Given the description of an element on the screen output the (x, y) to click on. 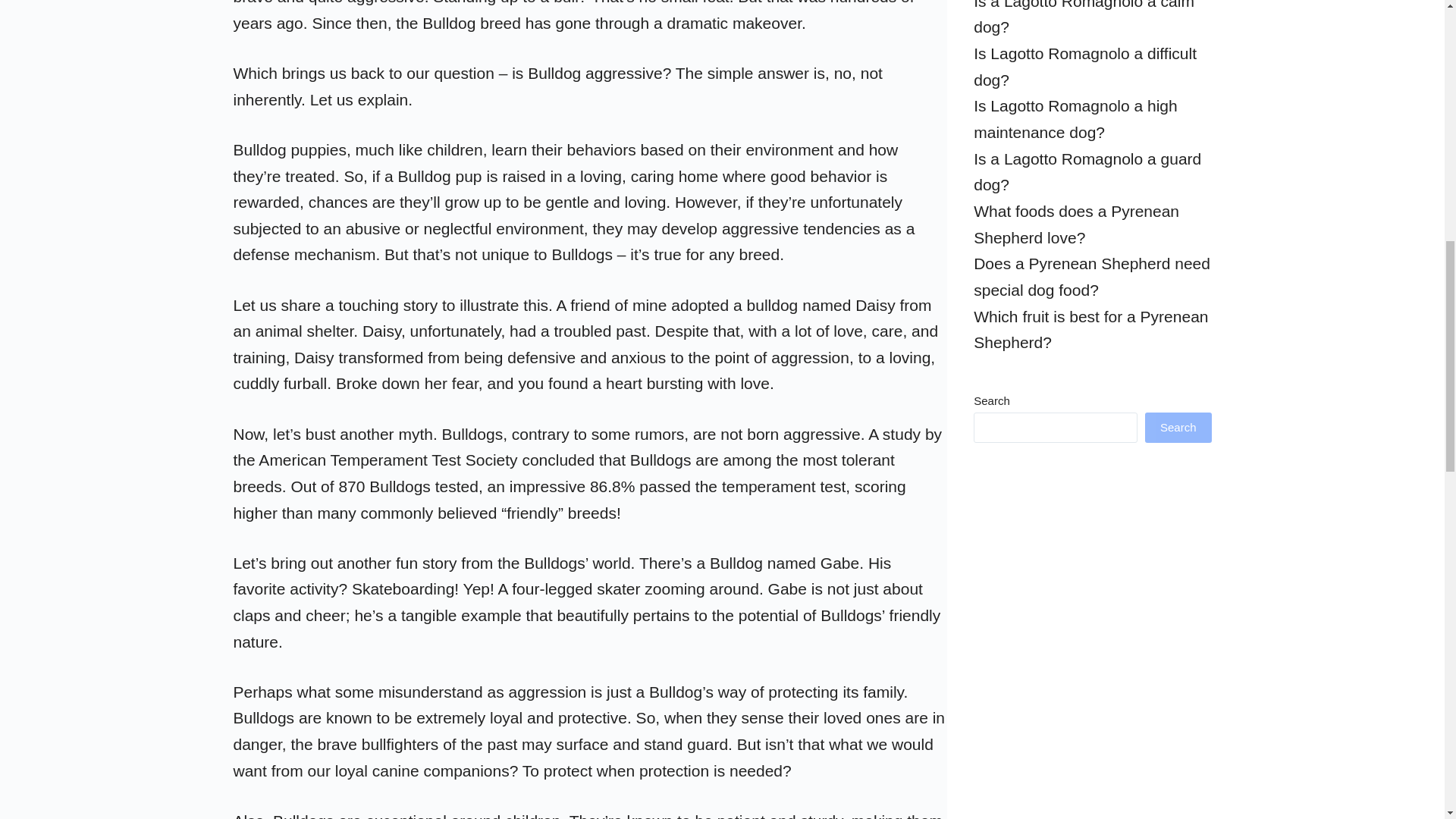
Is Lagotto Romagnolo a high maintenance dog? (1075, 118)
Is a Lagotto Romagnolo a calm dog? (1083, 18)
Does a Pyrenean Shepherd need special dog food? (1091, 276)
Is Lagotto Romagnolo a difficult dog? (1085, 66)
Search (1177, 427)
What foods does a Pyrenean Shepherd love? (1076, 224)
Is a Lagotto Romagnolo a guard dog? (1087, 171)
Which fruit is best for a Pyrenean Shepherd? (1091, 329)
